Given the description of an element on the screen output the (x, y) to click on. 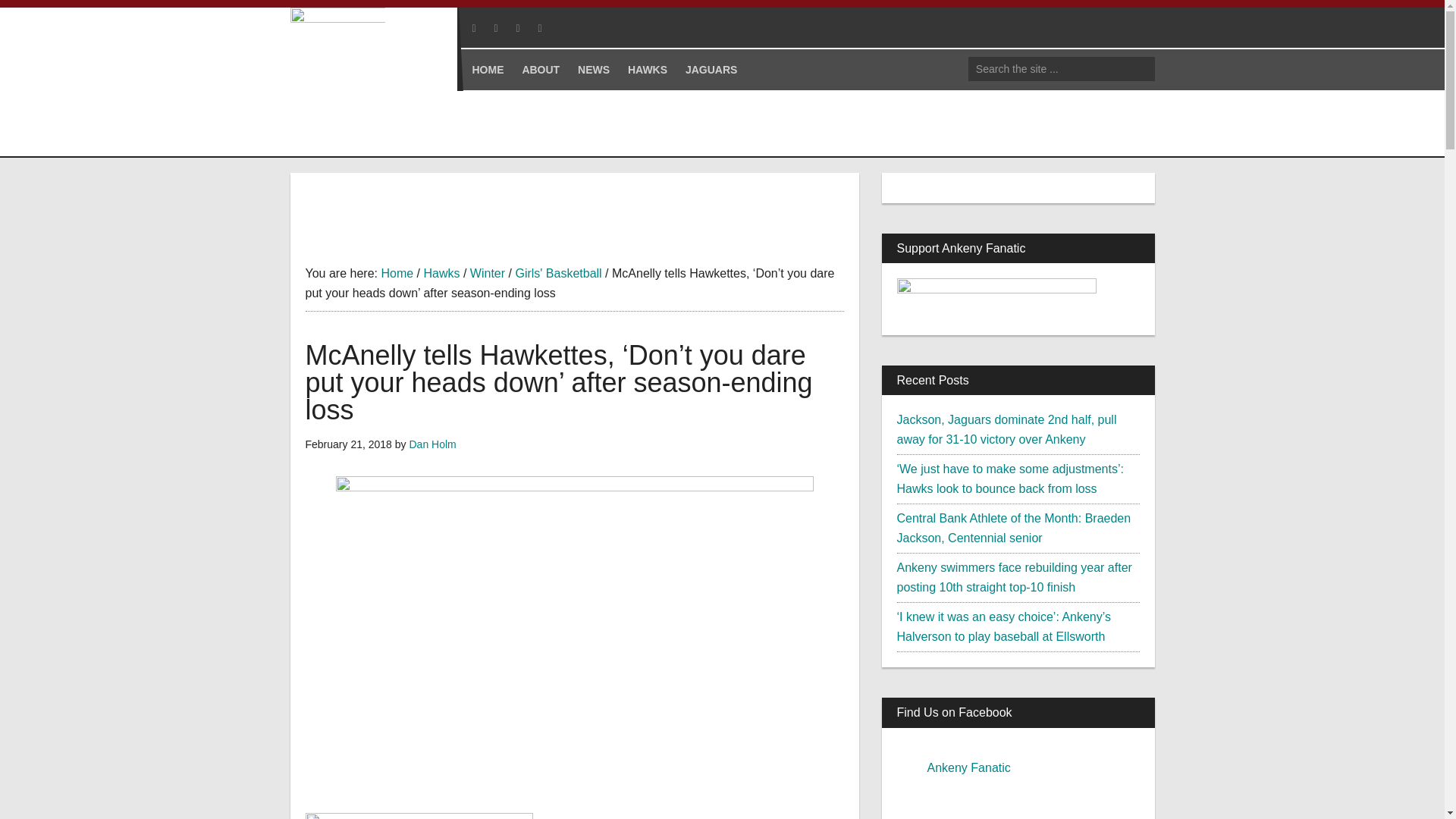
HAWKS (647, 69)
Ankeny Fanatic (380, 115)
JAGUARS (711, 69)
HOME (487, 69)
ABOUT (540, 69)
NEWS (593, 69)
